Given the description of an element on the screen output the (x, y) to click on. 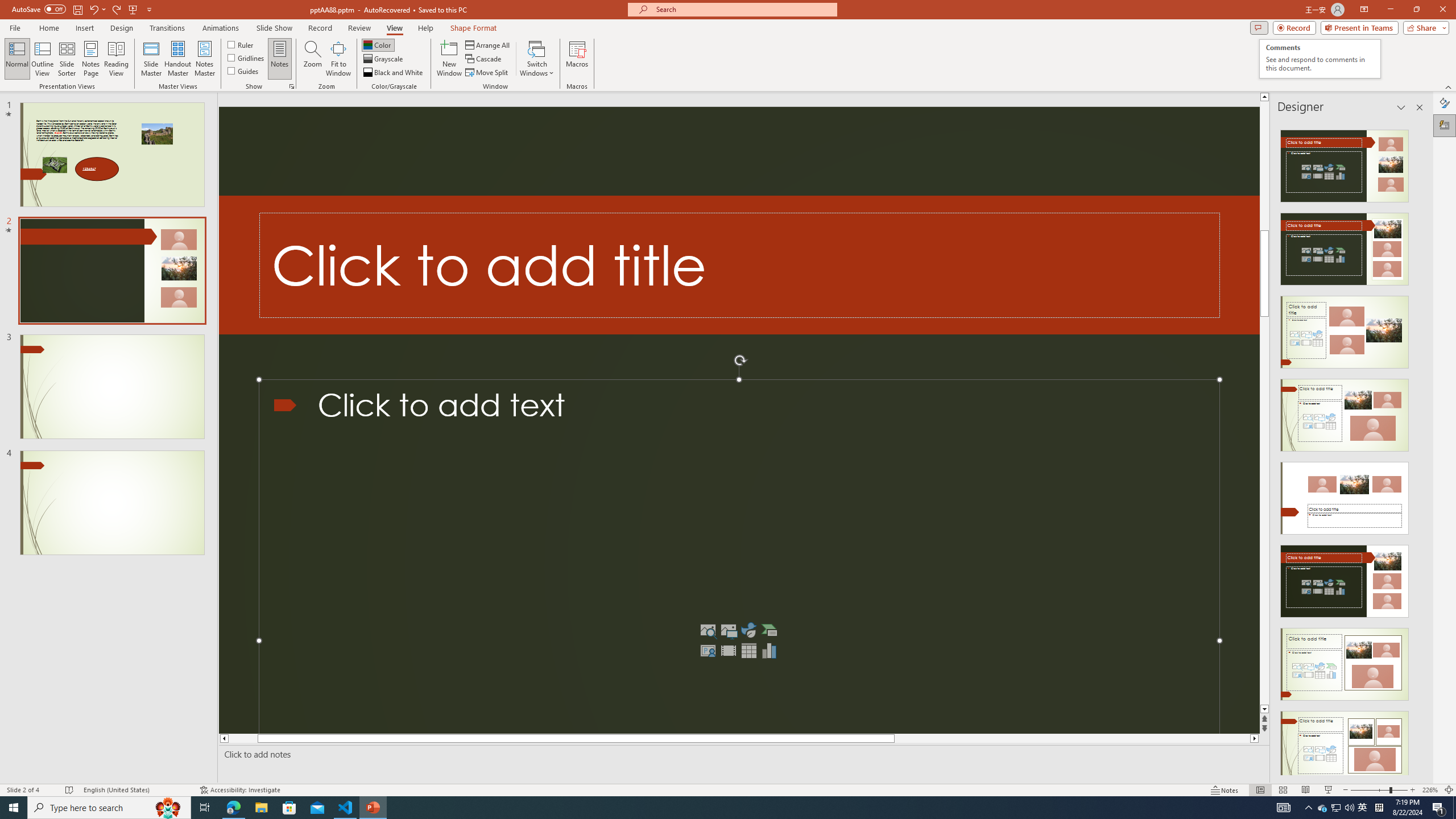
Guides (243, 69)
Notes Page (90, 58)
Switch Windows (537, 58)
New Window (449, 58)
Color (377, 44)
